Given the description of an element on the screen output the (x, y) to click on. 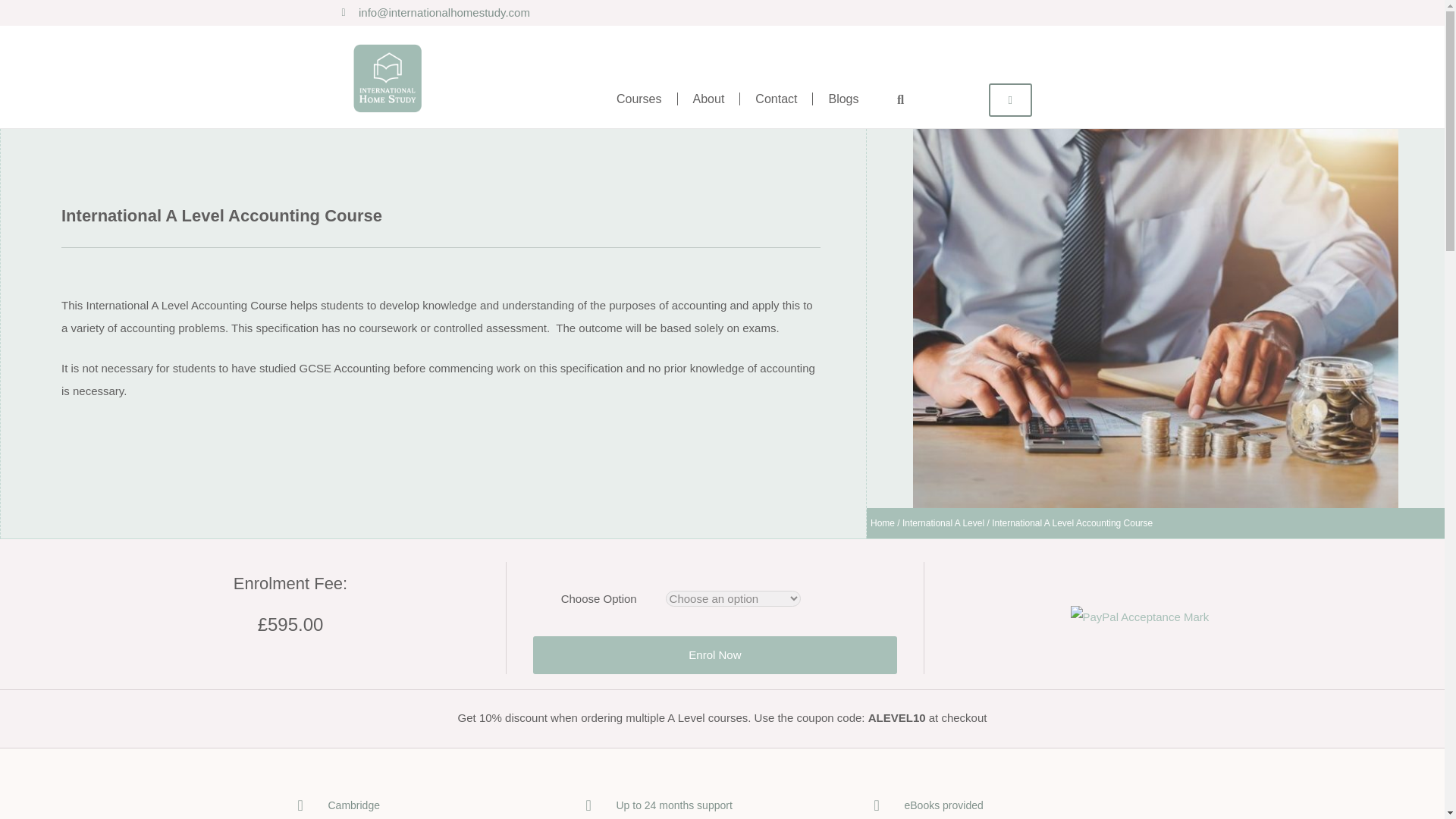
Home (882, 522)
Courses (639, 99)
International A Level (943, 522)
Blogs (842, 99)
How PayPal Works (1139, 616)
About (708, 99)
Logo (386, 78)
Contact (775, 99)
Enrol Now (714, 655)
